Given the description of an element on the screen output the (x, y) to click on. 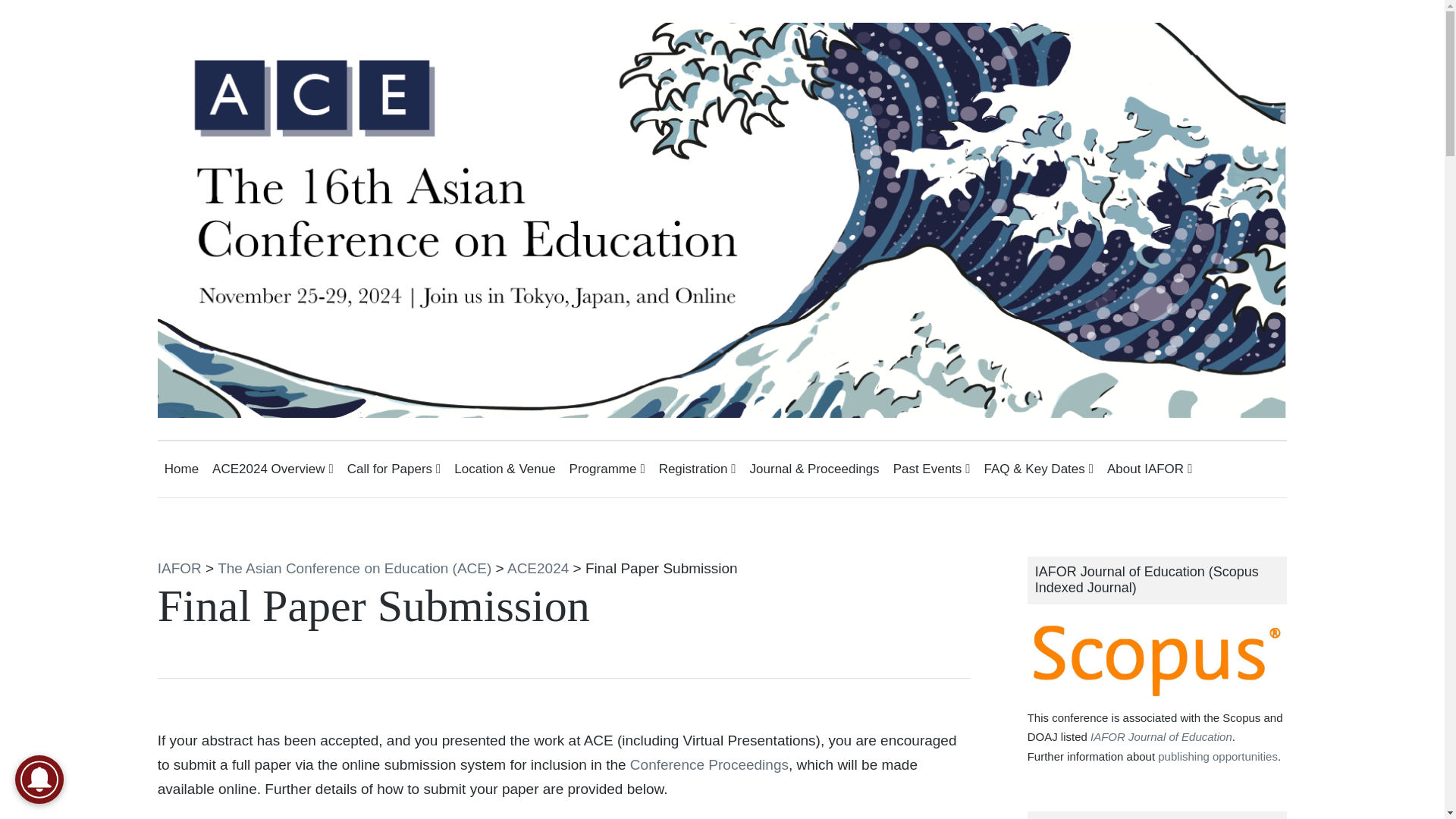
Past Events (932, 469)
Programme (607, 469)
Registration (697, 469)
ACE2024 Overview (272, 469)
Go to IAFOR. (179, 568)
Go to the ACE2024 category archives. (537, 568)
Call for Papers (394, 469)
Home (181, 469)
